Given the description of an element on the screen output the (x, y) to click on. 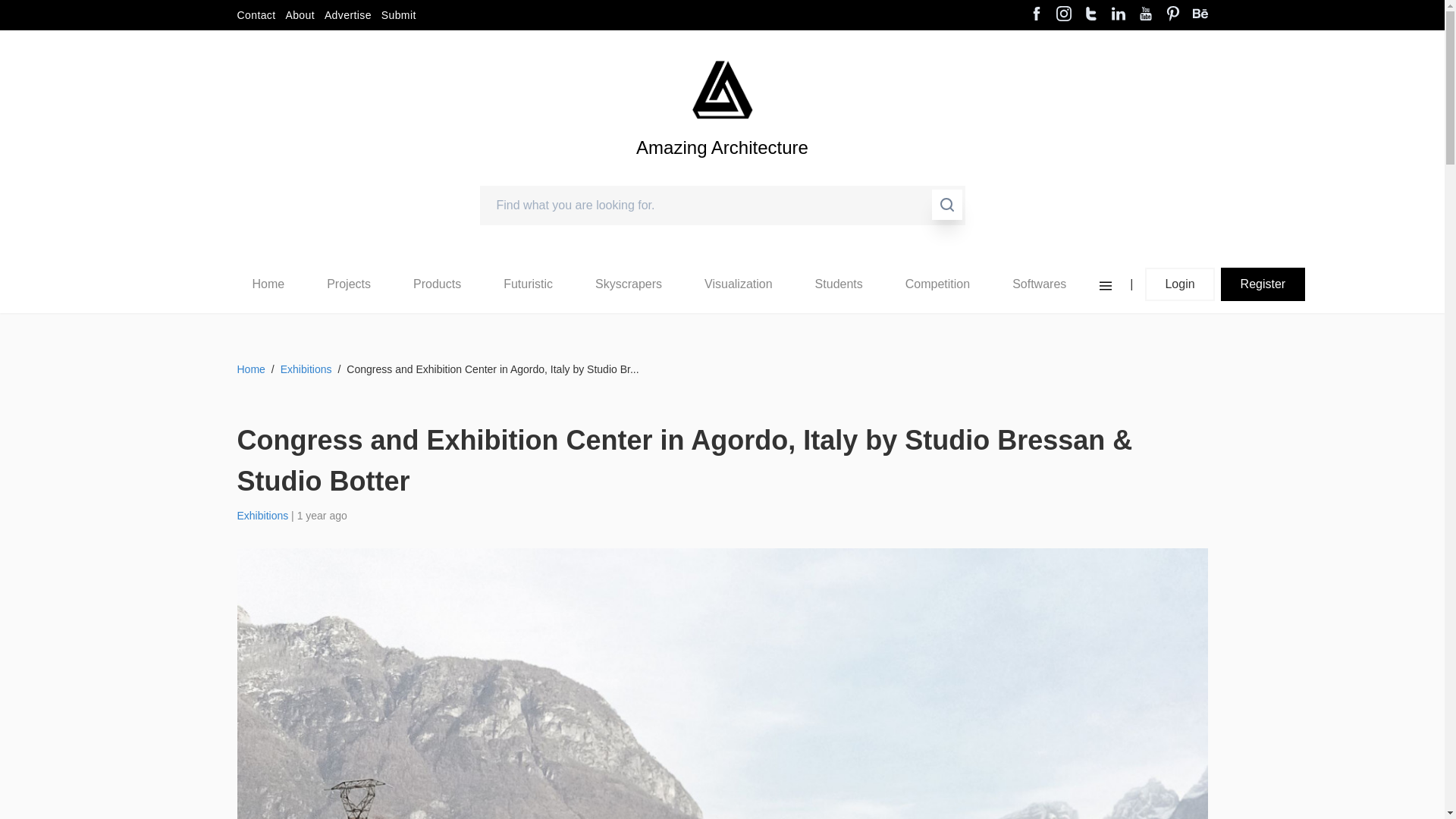
Skyscrapers (628, 283)
Contact us page (255, 15)
Products (437, 283)
Projects (348, 284)
Amazing Architecture (722, 173)
Advertise (347, 15)
Futuristic (528, 283)
Projects (348, 283)
Advertisement page (347, 15)
Amazing Architecture (721, 88)
Home (267, 283)
Submit (398, 15)
About (299, 15)
Amazing Architecture (722, 173)
Home (267, 283)
